Given the description of an element on the screen output the (x, y) to click on. 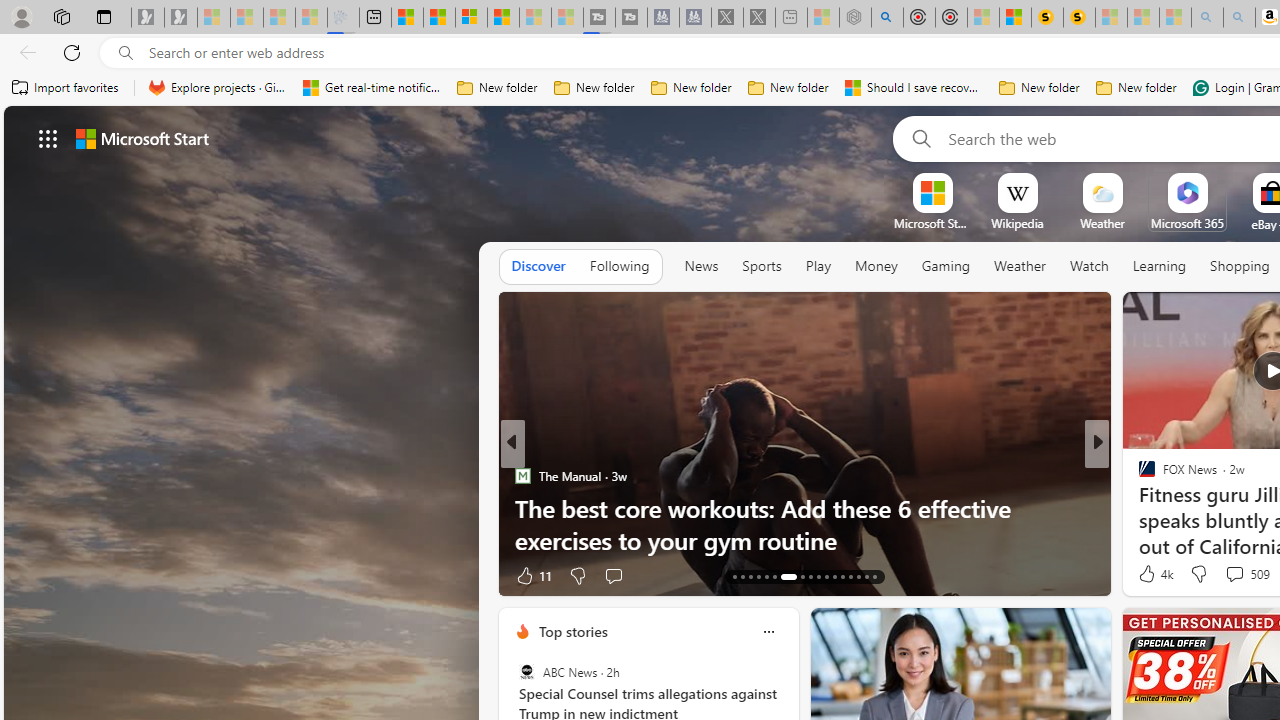
Amazon Echo Dot PNG - Search Images - Sleeping (1239, 17)
Play (818, 267)
AutomationID: tab-29 (874, 576)
AutomationID: tab-13 (733, 576)
AutomationID: tab-24 (833, 576)
View comments 509 Comment (1234, 573)
AutomationID: tab-16 (757, 576)
Sports (761, 265)
AutomationID: tab-28 (865, 576)
poe - Search (886, 17)
